Given the description of an element on the screen output the (x, y) to click on. 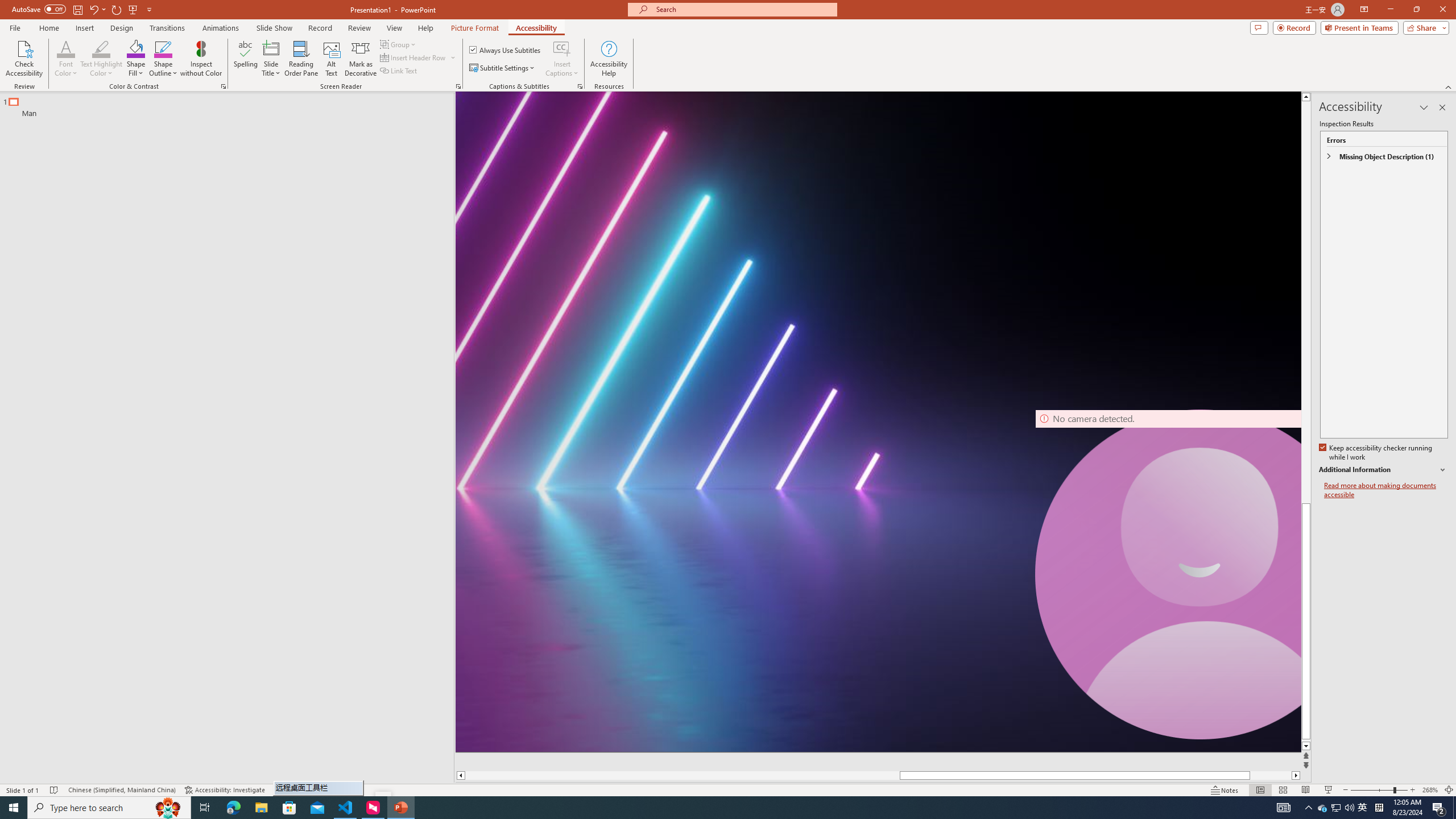
Rectangle (221, 437)
Save (77, 9)
Microsoft search (742, 9)
Subtitle Settings (502, 67)
Always Use Subtitles (505, 49)
Font Color (65, 48)
Accessibility Checker Accessibility: Investigate (224, 790)
Shape Outline Blue, Accent 1 (163, 48)
Zoom In (1412, 790)
Quick Access Toolbar (82, 9)
File Tab (15, 27)
Slide Title (271, 58)
Spell Check No Errors (54, 790)
Close pane (1441, 107)
Reading Order Pane (301, 58)
